Given the description of an element on the screen output the (x, y) to click on. 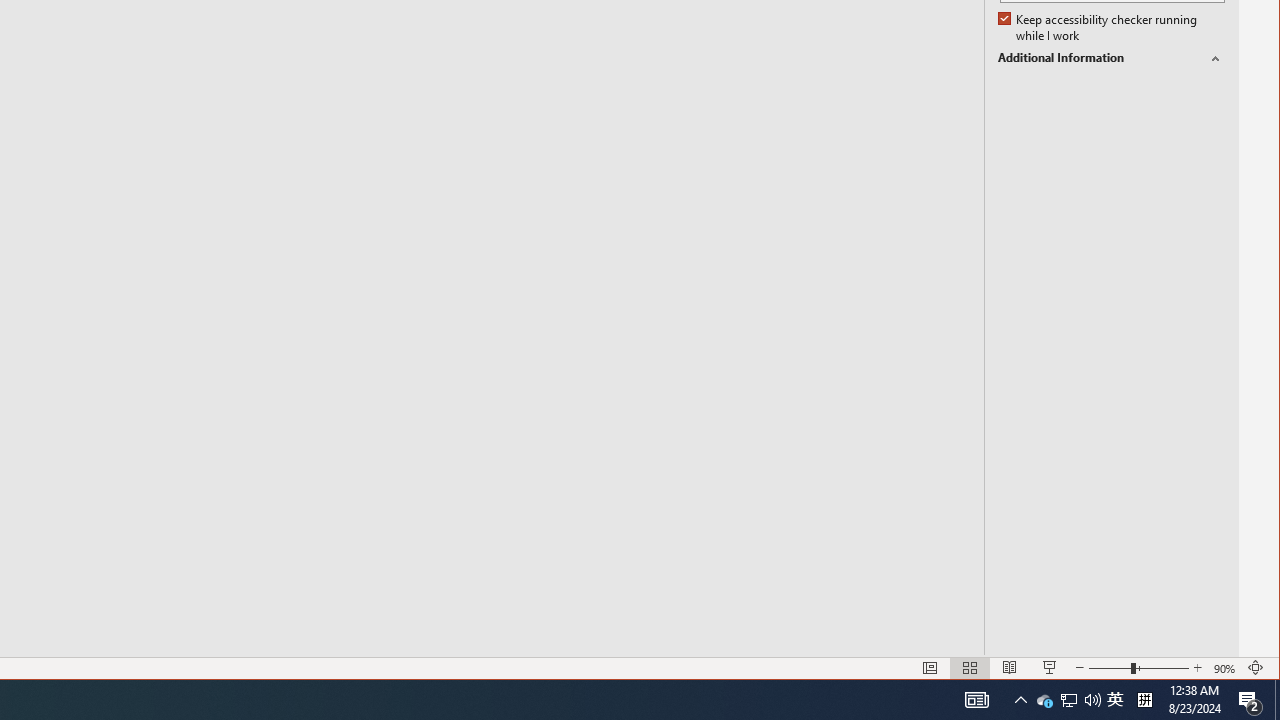
Tray Input Indicator - Chinese (Simplified, China) (1144, 699)
AutomationID: 4105 (976, 699)
Notification Chevron (1069, 699)
Show desktop (1020, 699)
Keep accessibility checker running while I work (1277, 699)
Zoom 90% (1115, 699)
